Given the description of an element on the screen output the (x, y) to click on. 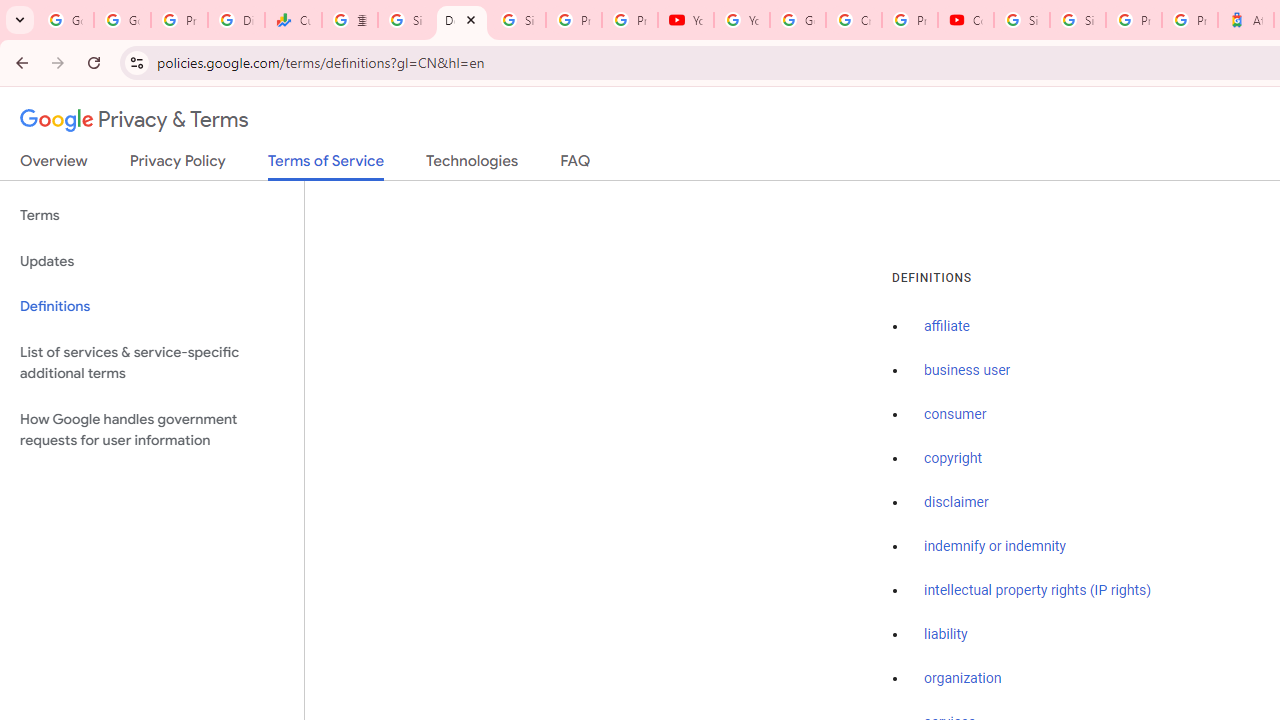
Sign in - Google Accounts (1021, 20)
consumer (955, 415)
YouTube (685, 20)
Currencies - Google Finance (293, 20)
disclaimer (956, 502)
intellectual property rights (IP rights) (1038, 590)
YouTube (742, 20)
